Given the description of an element on the screen output the (x, y) to click on. 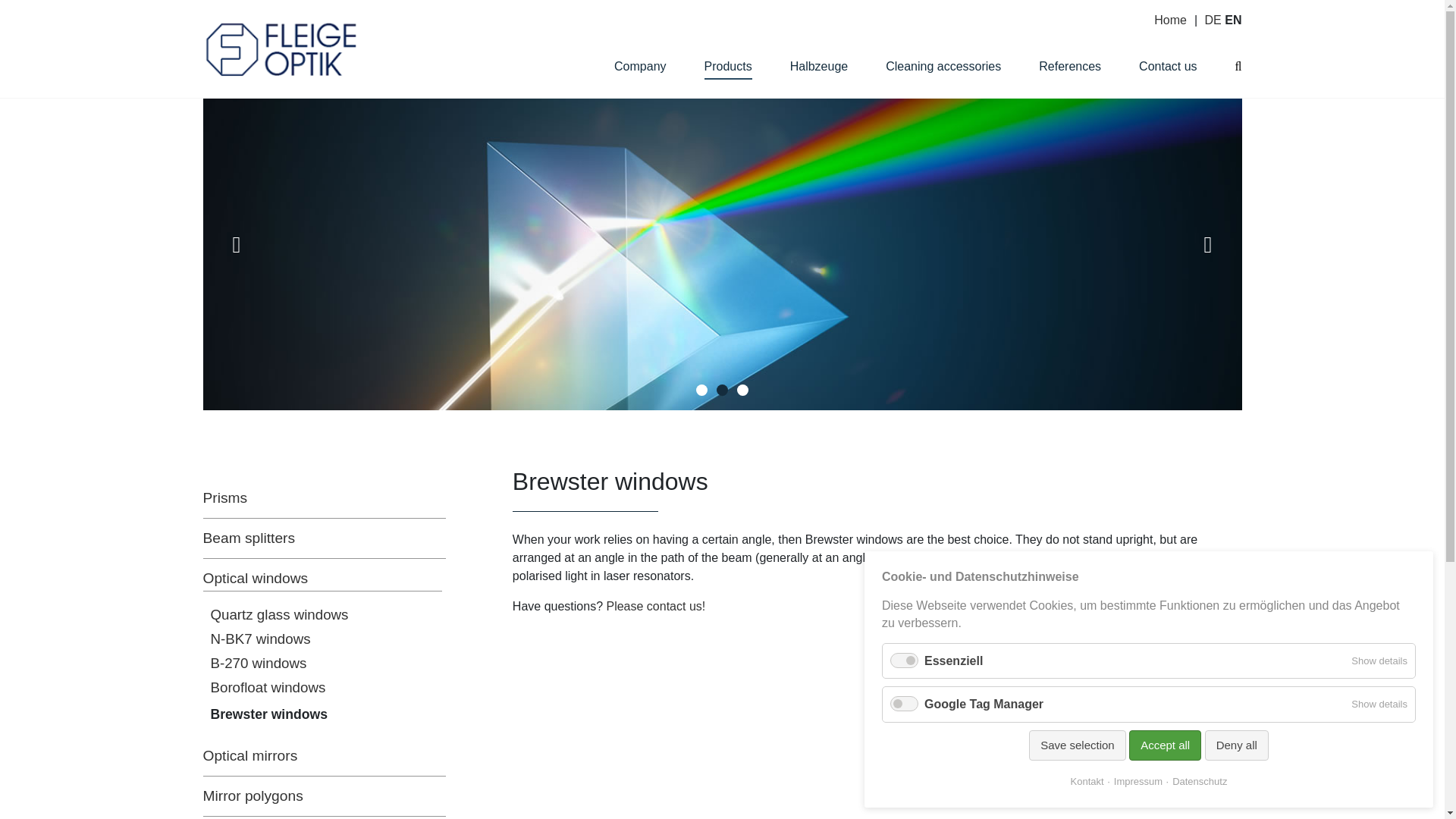
Close submenu (1129, 16)
